Given the description of an element on the screen output the (x, y) to click on. 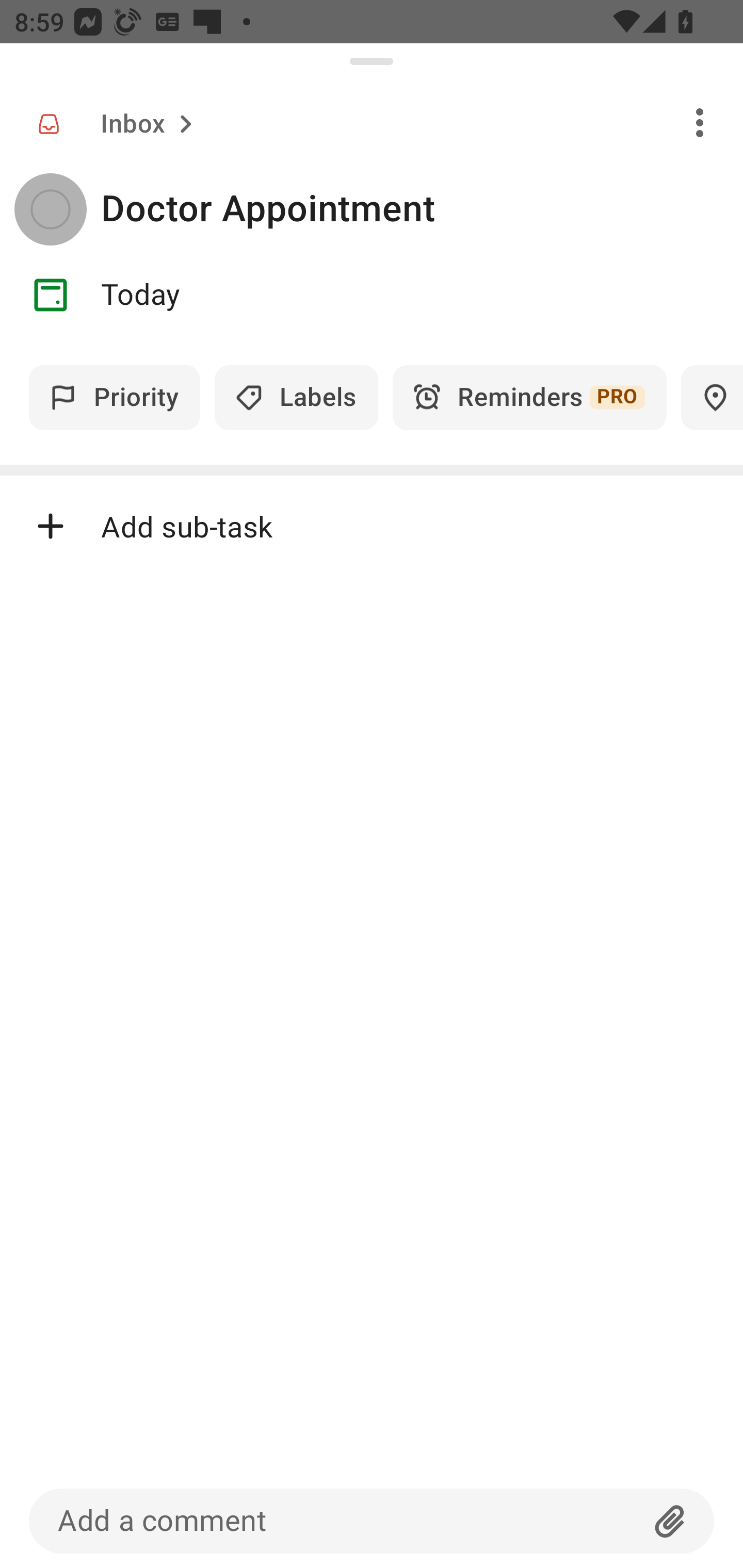
Overflow menu (699, 122)
Complete (50, 209)
Doctor Appointment​ (422, 209)
Date Today (371, 295)
Priority (113, 397)
Labels (296, 397)
Reminders PRO (529, 397)
Locations PRO (712, 397)
Add sub-task (371, 525)
Add a comment Attachment (371, 1520)
Attachment (670, 1520)
